Given the description of an element on the screen output the (x, y) to click on. 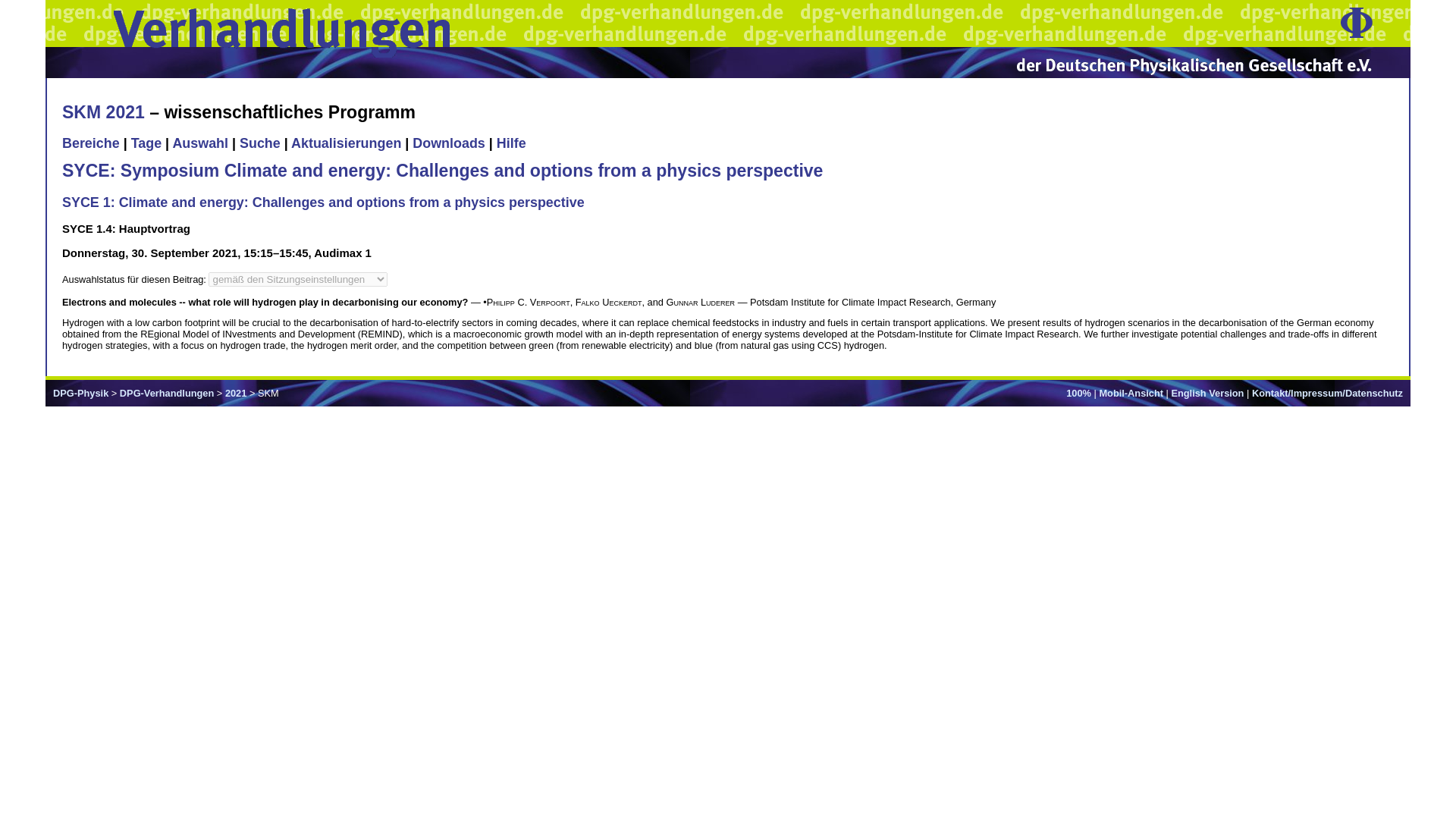
Suche (260, 142)
2021 (235, 392)
SKM 2021 (103, 112)
DPG-Verhandlungen (166, 392)
Mobil-Ansicht (1131, 392)
Auswahl (199, 142)
Downloads (448, 142)
Hilfe (510, 142)
